Given the description of an element on the screen output the (x, y) to click on. 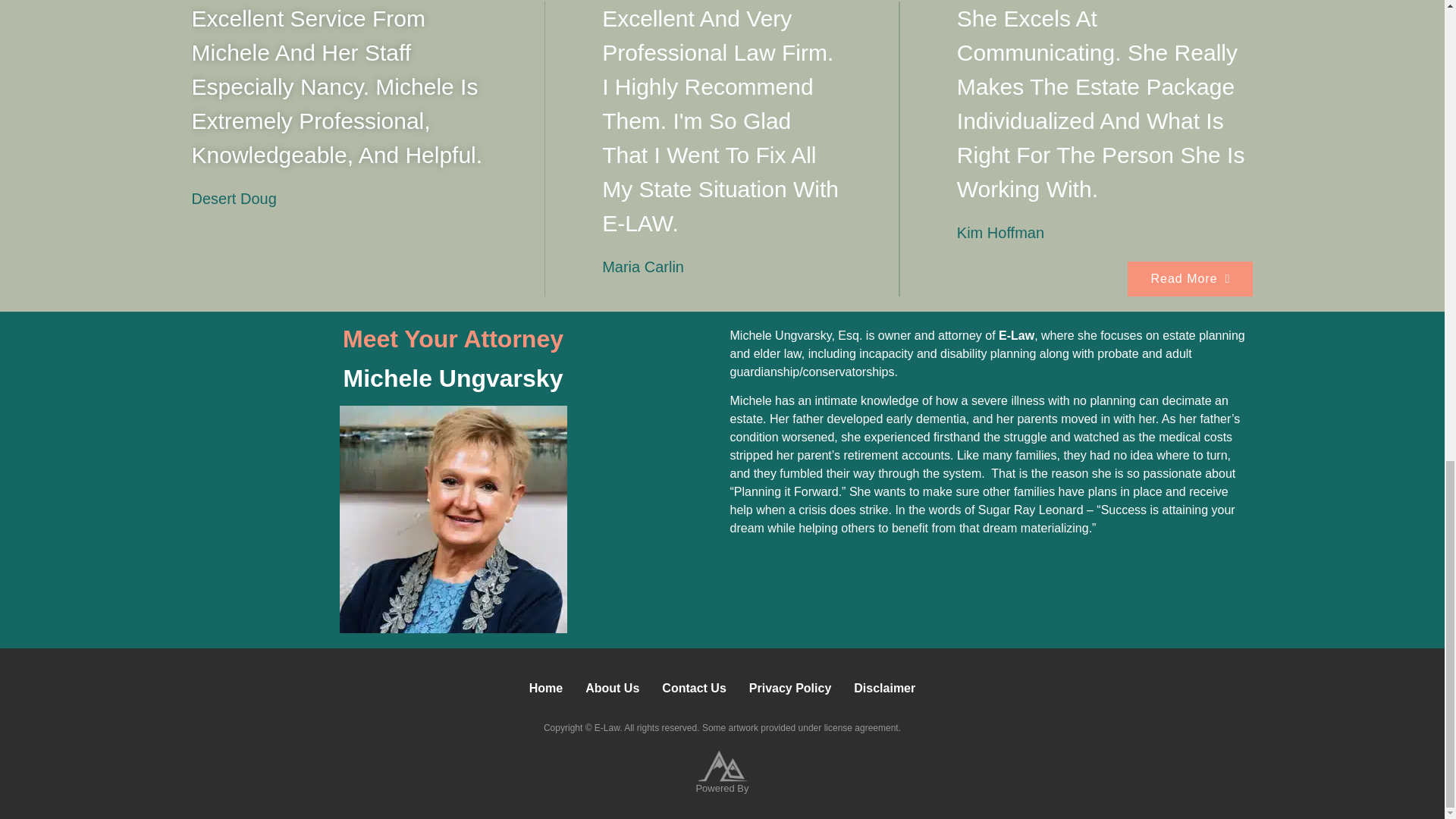
Read More (1189, 278)
About Us (611, 687)
Disclaimer (884, 687)
Home (545, 687)
Contact Us (693, 687)
E-Law (1015, 335)
Privacy Policy (790, 687)
Visit Integritymarketingsolutions.com (721, 766)
